Given the description of an element on the screen output the (x, y) to click on. 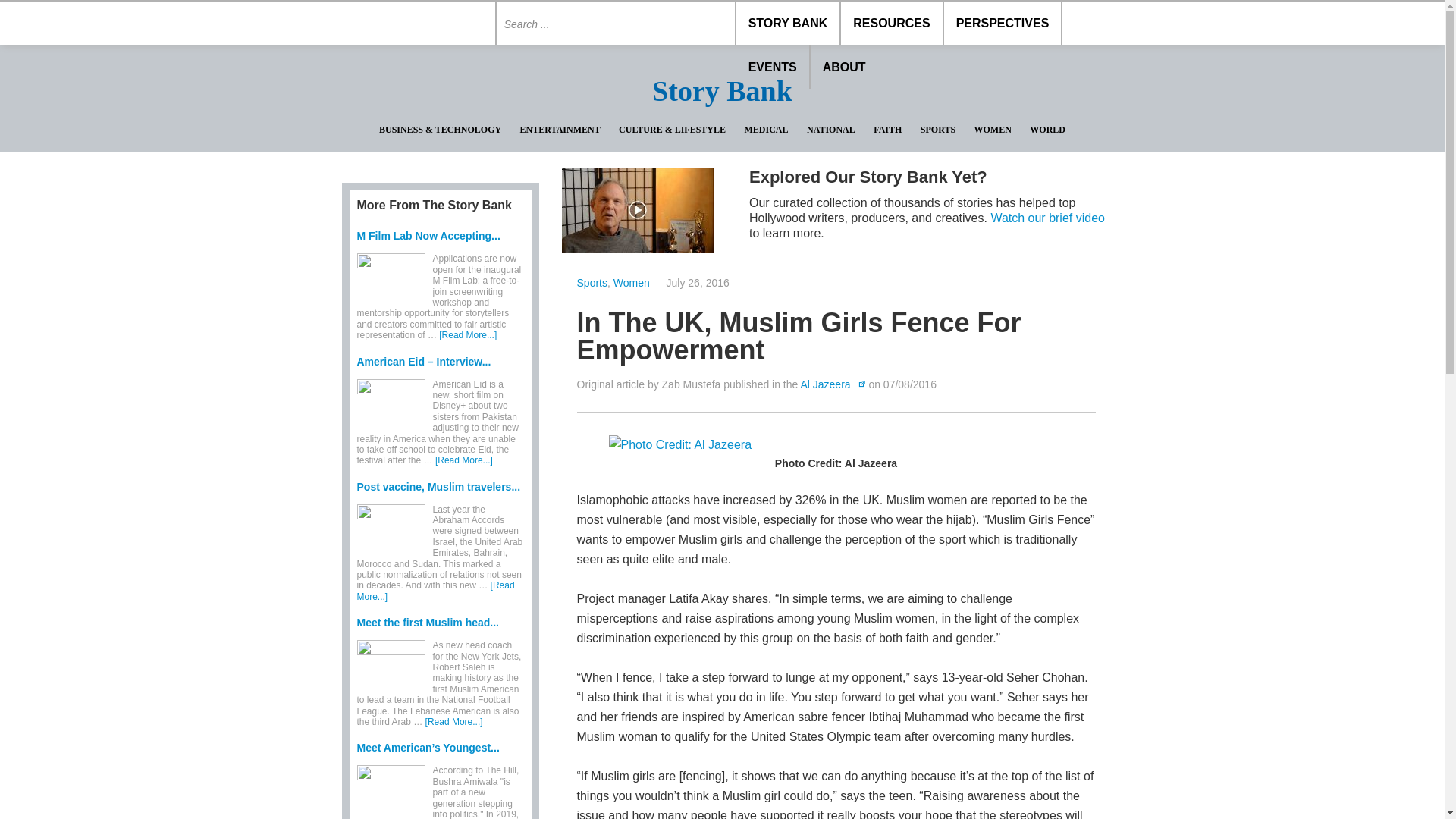
Sports (591, 282)
EVENTS (773, 67)
SPORTS (937, 130)
ABOUT (843, 67)
PERSPECTIVES (1002, 23)
MOSTRESOURCE.ORG (414, 23)
Al Jazeera (831, 384)
Meet the first Muslim head coach in the NFL (426, 622)
Watch our brief video (1047, 217)
